Given the description of an element on the screen output the (x, y) to click on. 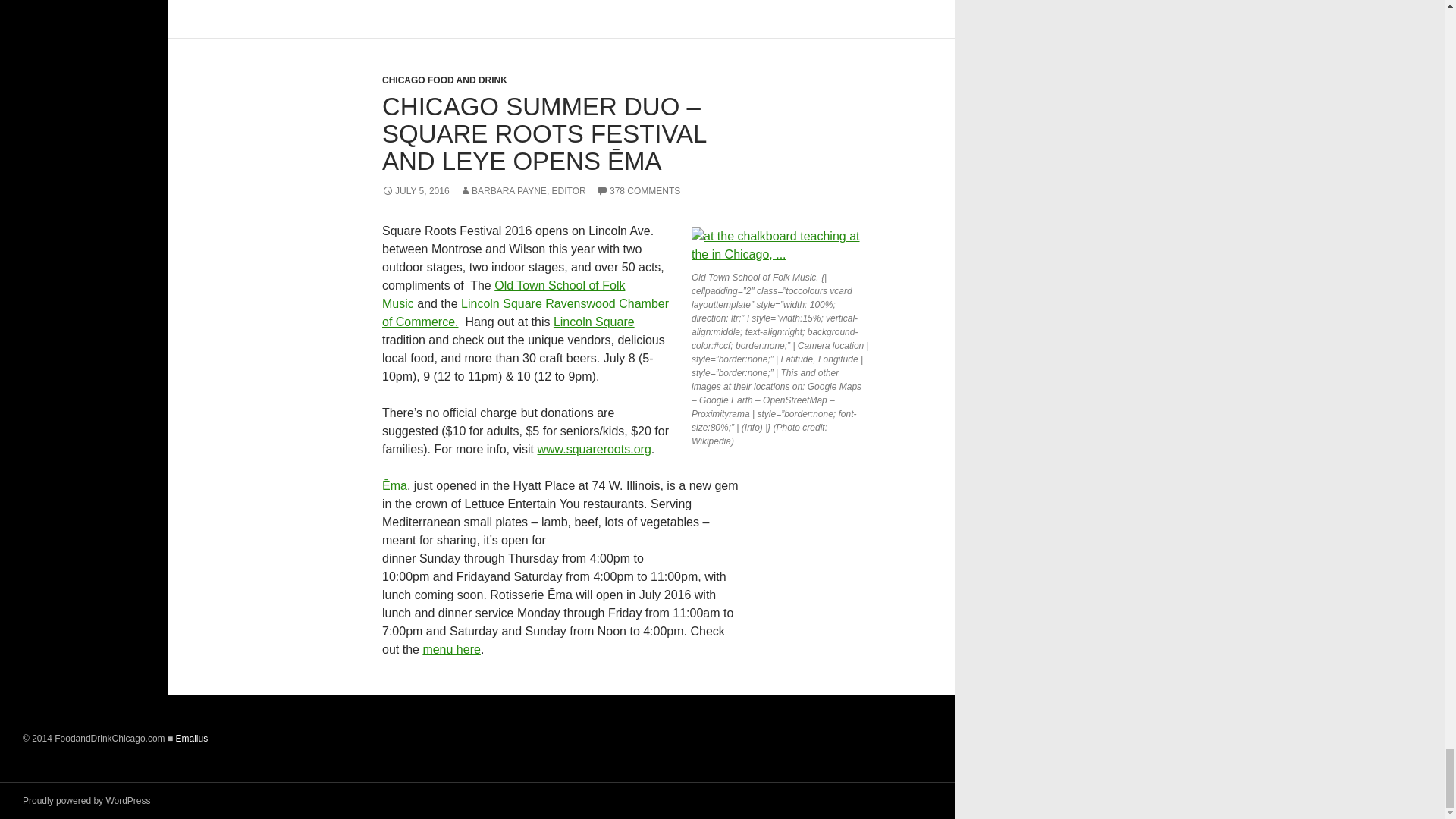
at the chalkboard teaching at the in Chicago, ... (780, 245)
